Given the description of an element on the screen output the (x, y) to click on. 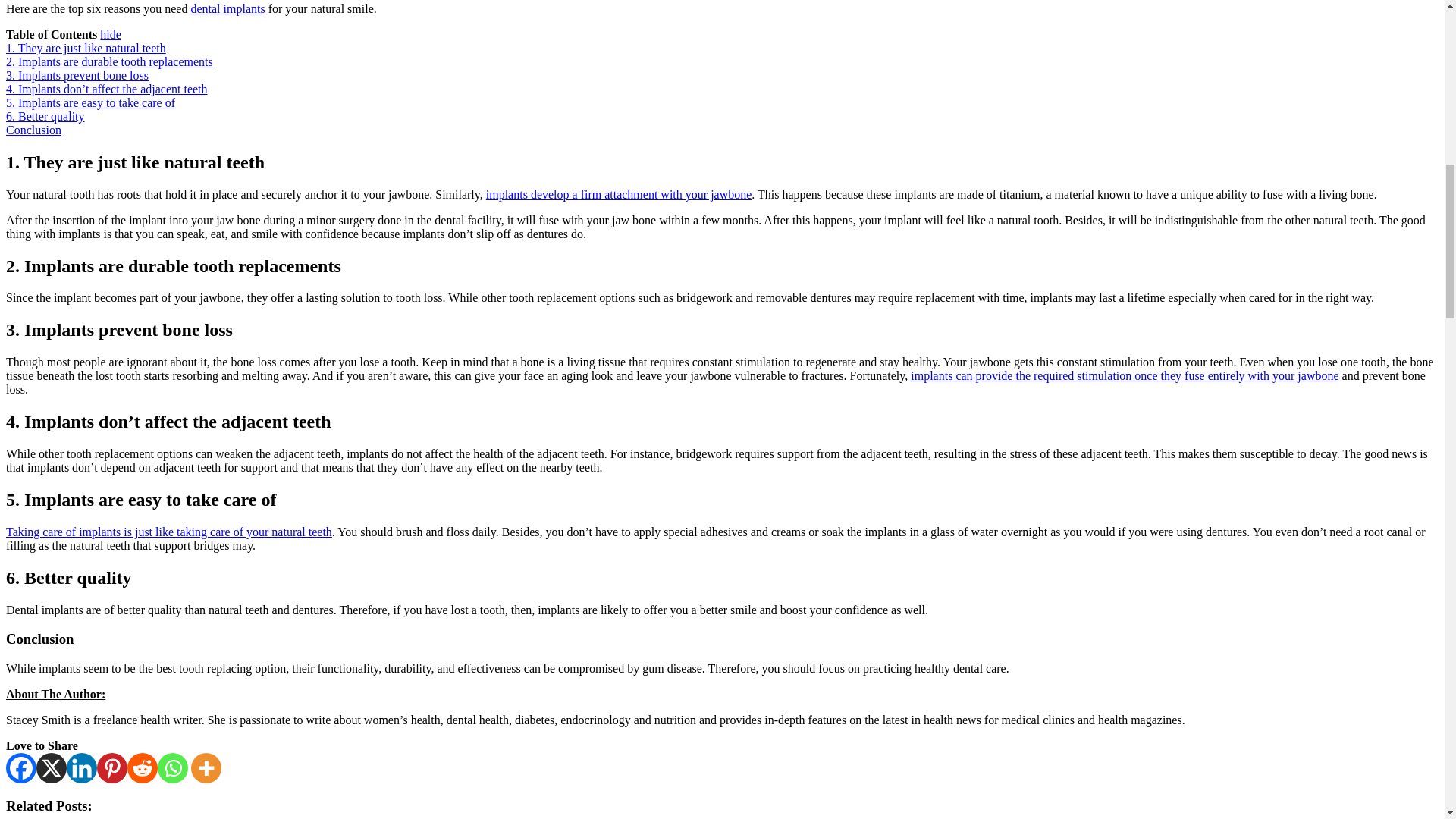
1. They are just like natural teeth (85, 47)
Pinterest (112, 767)
5. Implants are easy to take care of (89, 102)
implants develop a firm attachment with your jawbone (619, 194)
Linkedin (81, 767)
3. Implants prevent bone loss (76, 74)
Conclusion (33, 129)
dental implants (227, 8)
More (205, 767)
Whatsapp (172, 767)
Reddit (142, 767)
2. Implants are durable tooth replacements (108, 61)
Facebook (20, 767)
